Given the description of an element on the screen output the (x, y) to click on. 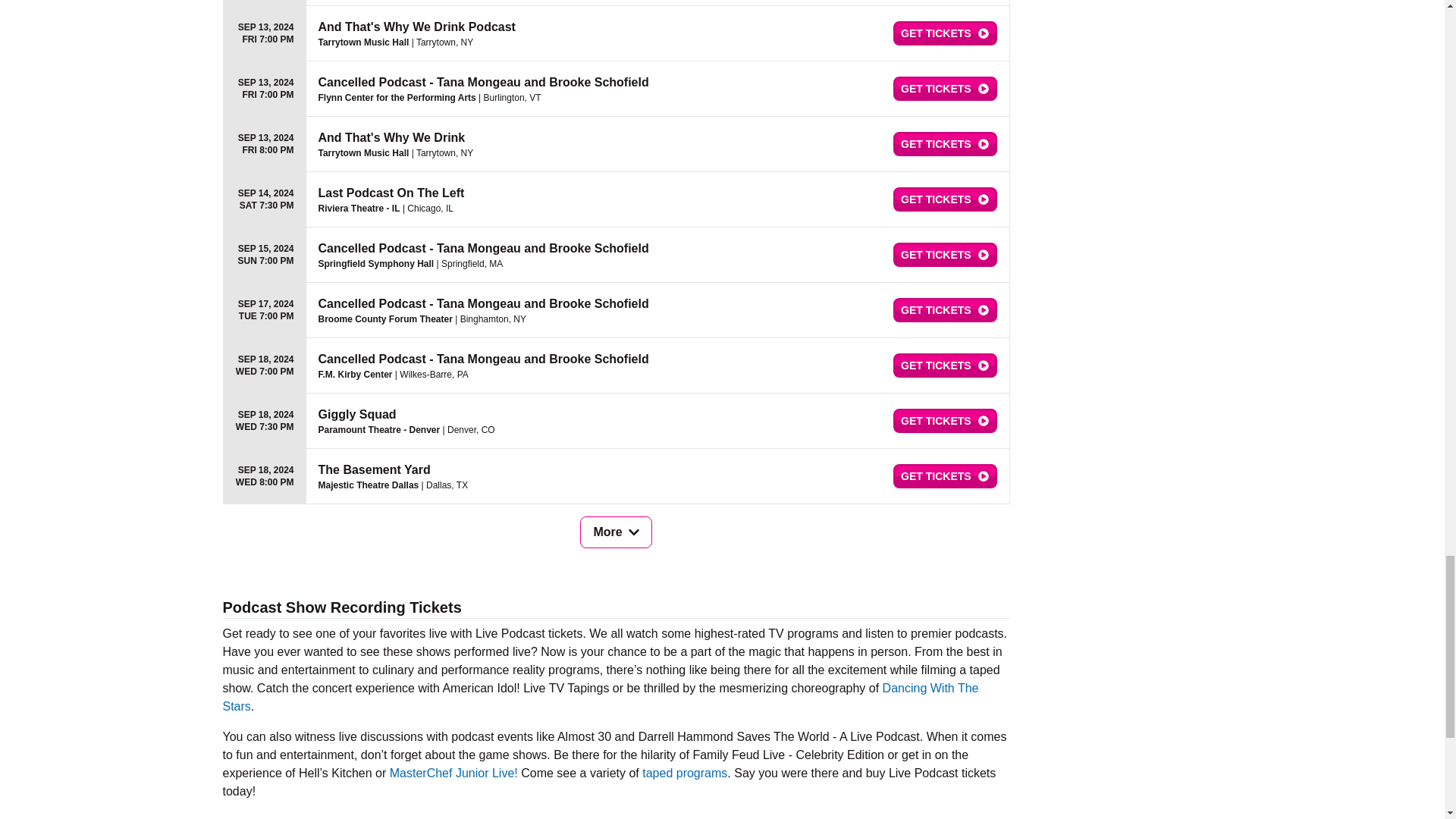
Dancing With The Stars Tickets (600, 696)
taped program tickets (684, 772)
MasterChef Junior Live! Tickets (454, 772)
